Given the description of an element on the screen output the (x, y) to click on. 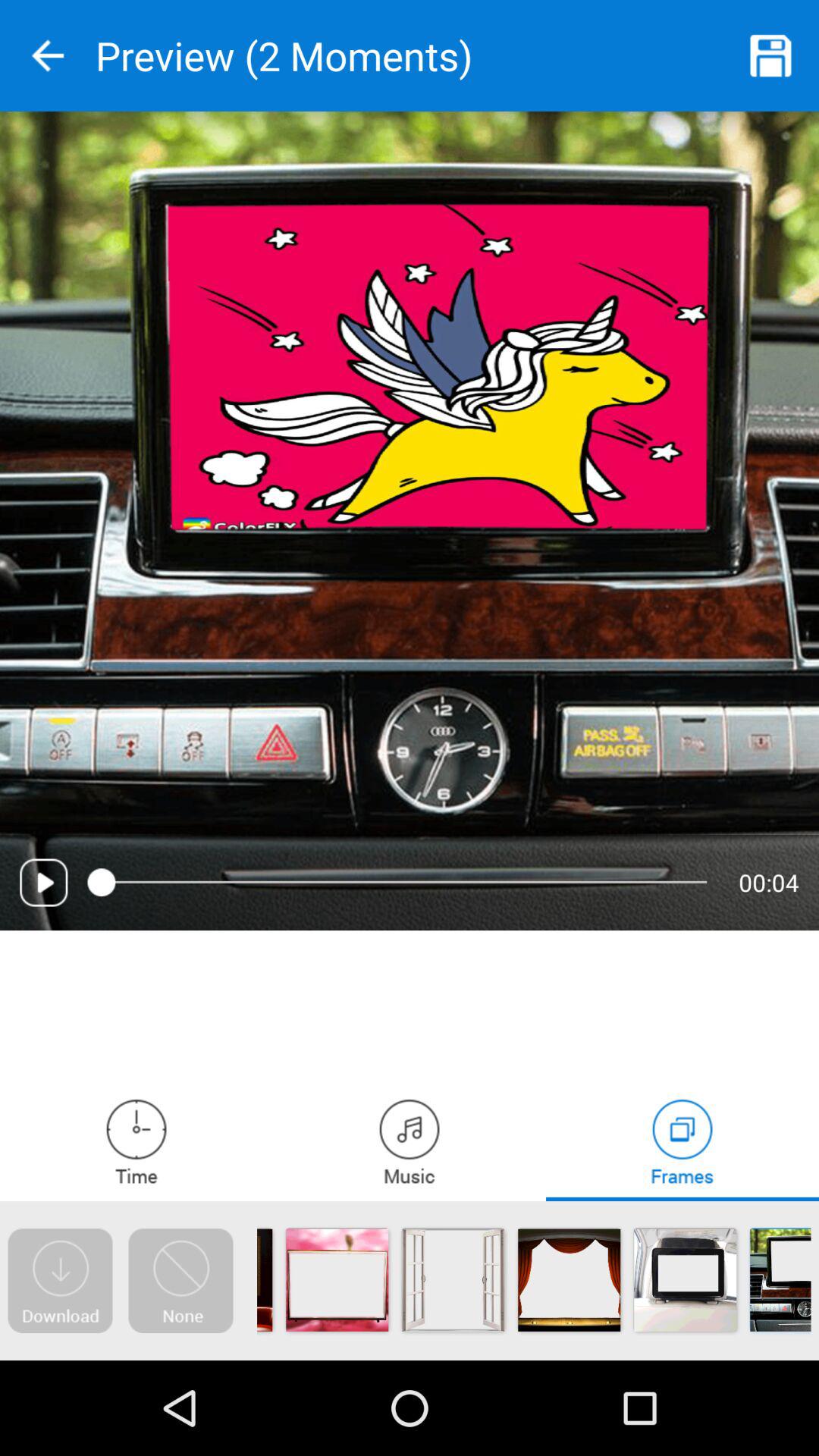
go to frames (682, 1141)
